Given the description of an element on the screen output the (x, y) to click on. 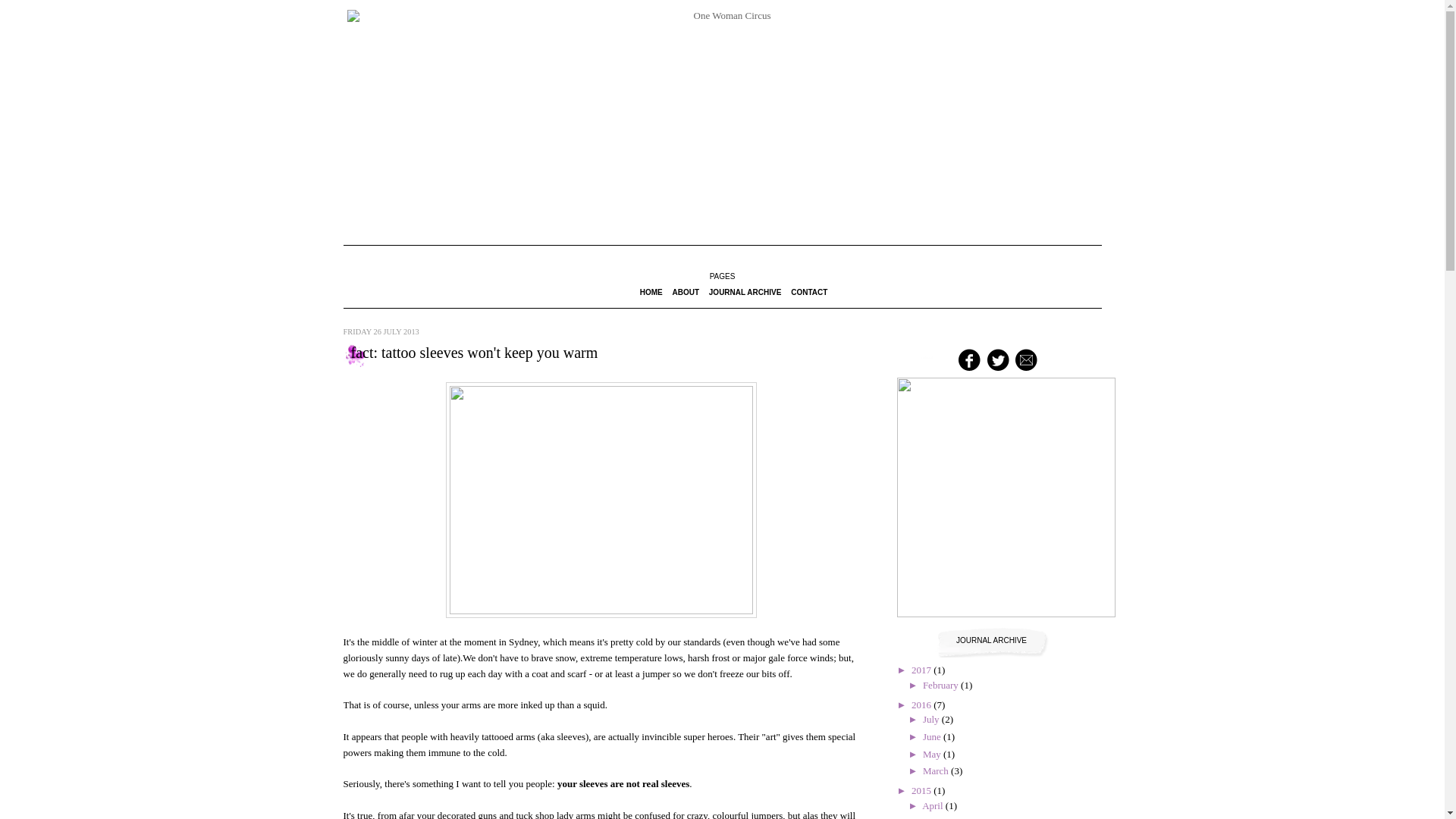
March Element type: text (936, 770)
ABOUT Element type: text (685, 292)
July Element type: text (931, 718)
May Element type: text (932, 753)
CONTACT Element type: text (808, 292)
April Element type: text (933, 805)
2016 Element type: text (922, 704)
June Element type: text (932, 736)
2015 Element type: text (922, 790)
2017 Element type: text (922, 669)
HOME Element type: text (651, 292)
February Element type: text (941, 684)
JOURNAL ARCHIVE Element type: text (745, 292)
